Given the description of an element on the screen output the (x, y) to click on. 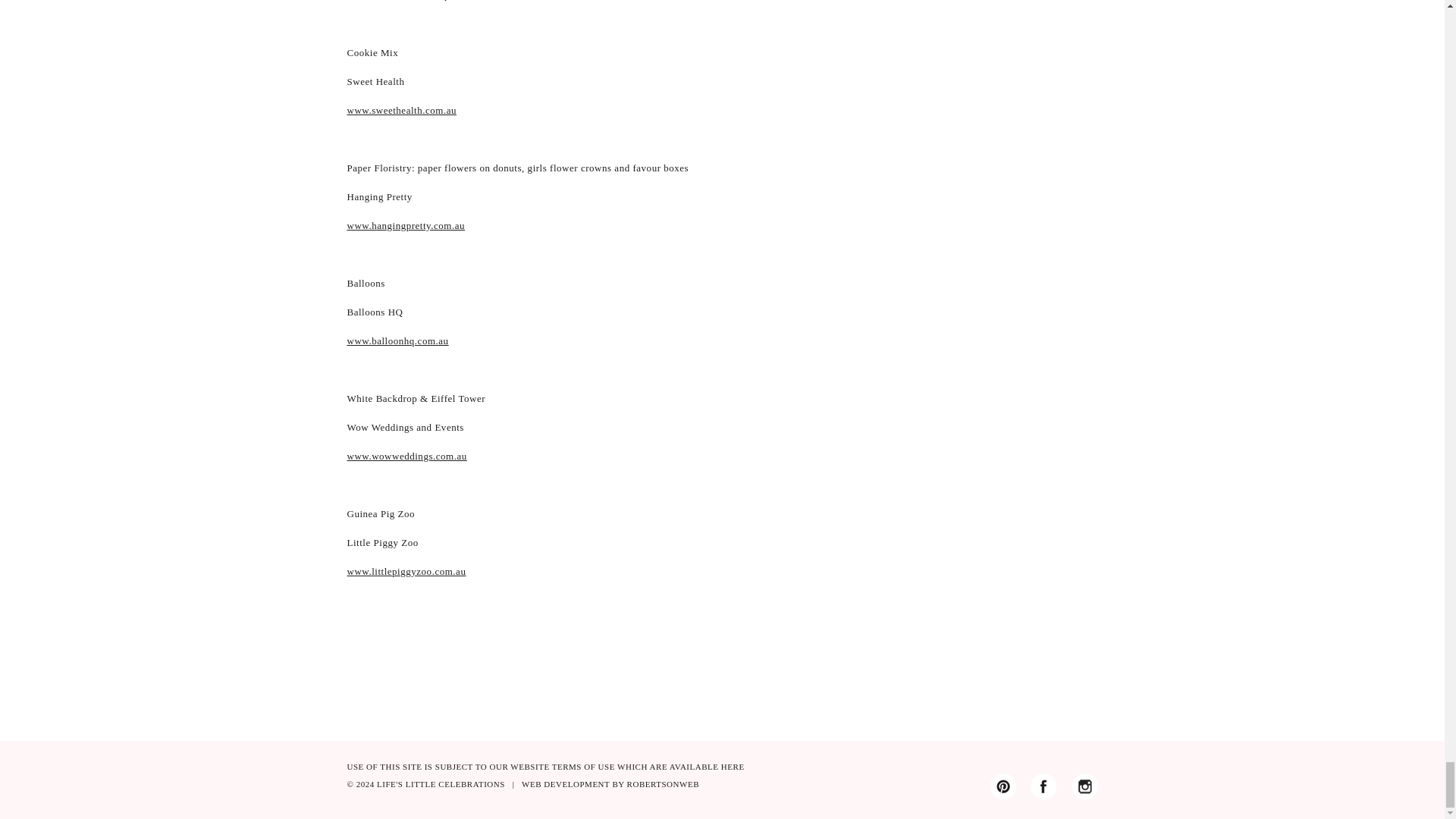
www.balloonhq.com.au (397, 340)
www.hangingpretty.com.au (406, 225)
www.sweethealth.com.au (402, 110)
www.wowweddings.com.au (407, 455)
www.littlepiggyzoo.com.au (406, 571)
